Given the description of an element on the screen output the (x, y) to click on. 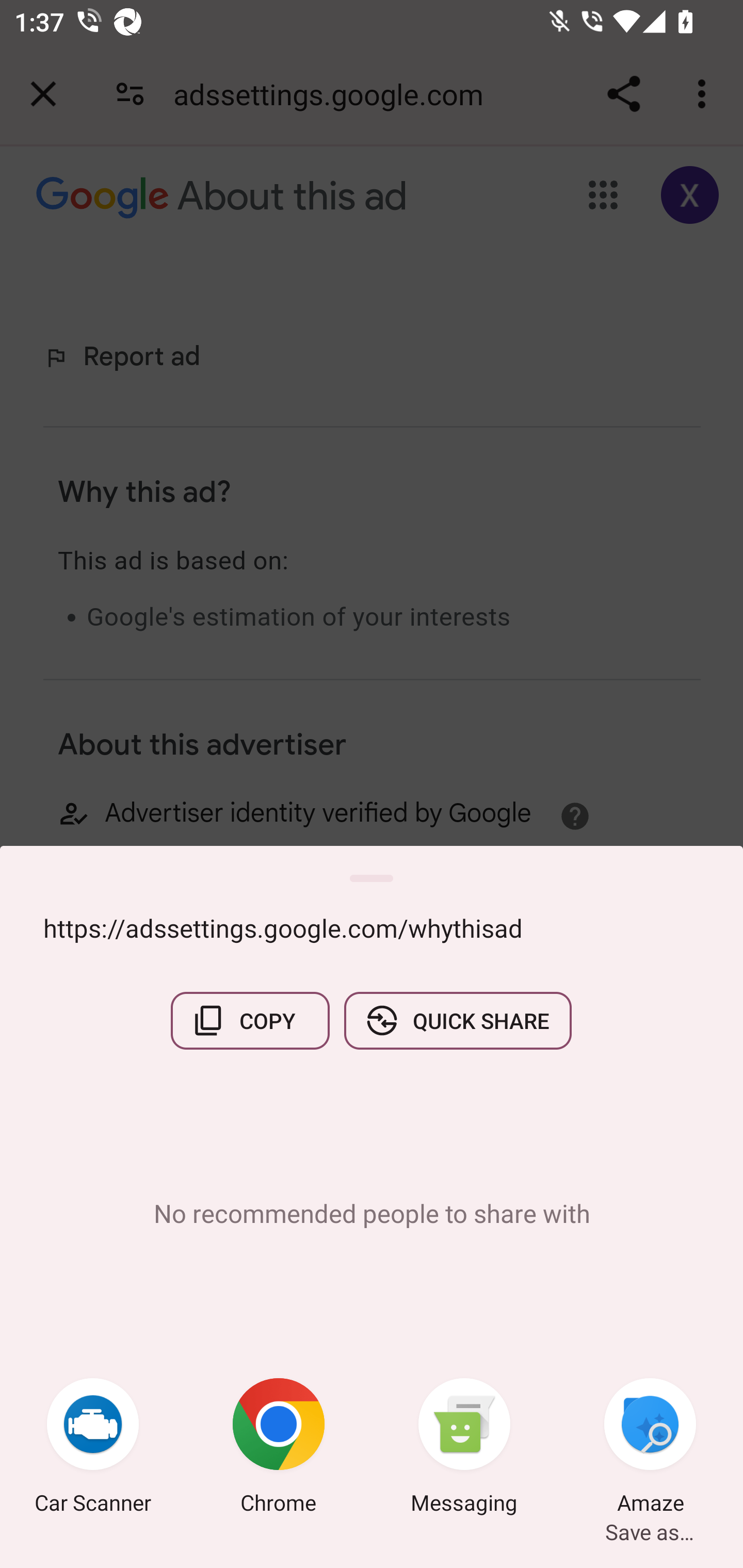
COPY (249, 1020)
QUICK SHARE (457, 1020)
Car Scanner (92, 1448)
Chrome (278, 1448)
Messaging (464, 1448)
Amaze Save as… (650, 1448)
